Given the description of an element on the screen output the (x, y) to click on. 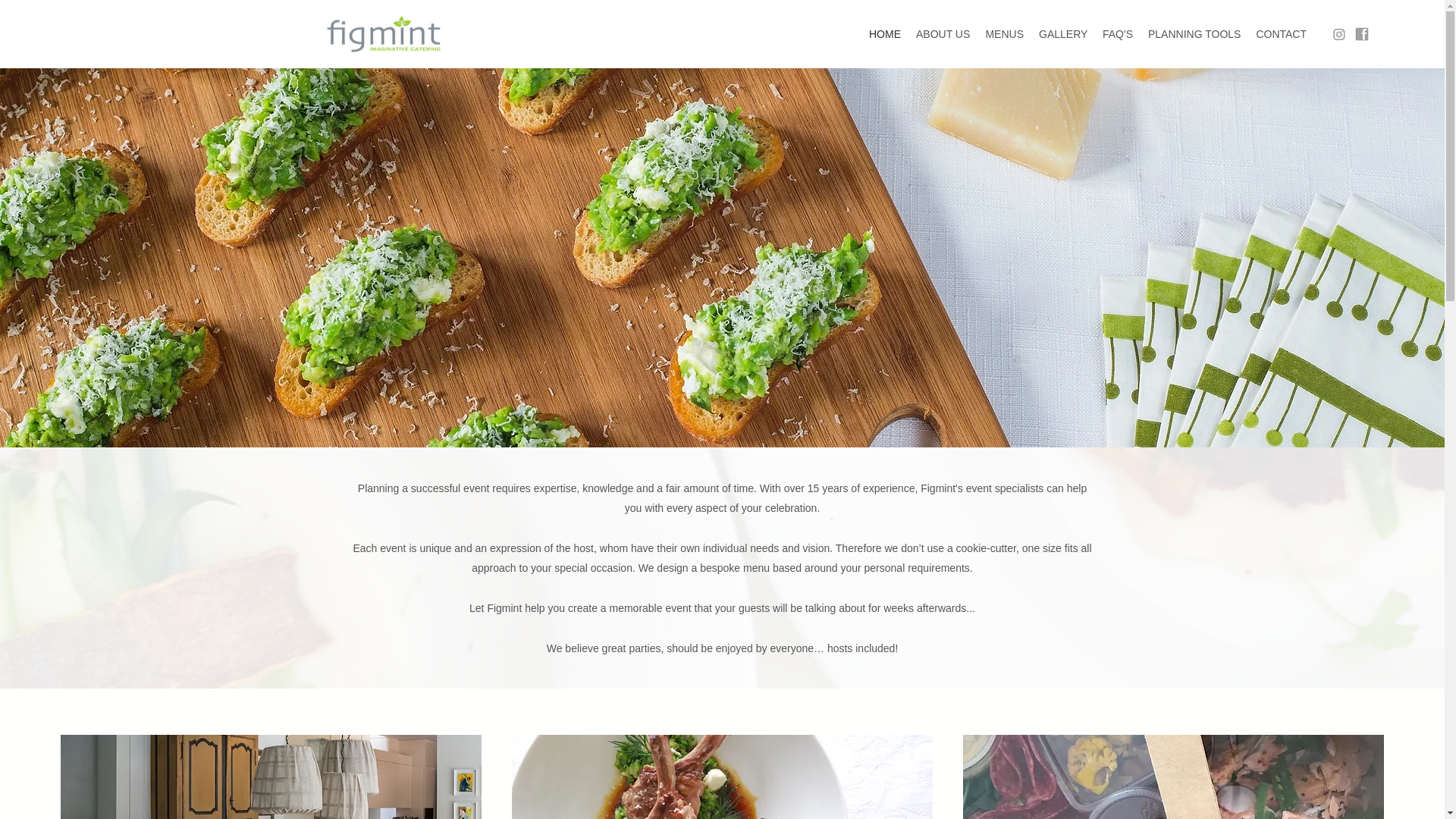
PLANNING TOOLS Element type: text (1194, 33)
MENUS Element type: text (1004, 33)
HOME Element type: text (884, 33)
FAQ'S Element type: text (1117, 33)
ABOUT US Element type: text (942, 33)
CONTACT Element type: text (1281, 33)
GALLERY Element type: text (1063, 33)
